Given the description of an element on the screen output the (x, y) to click on. 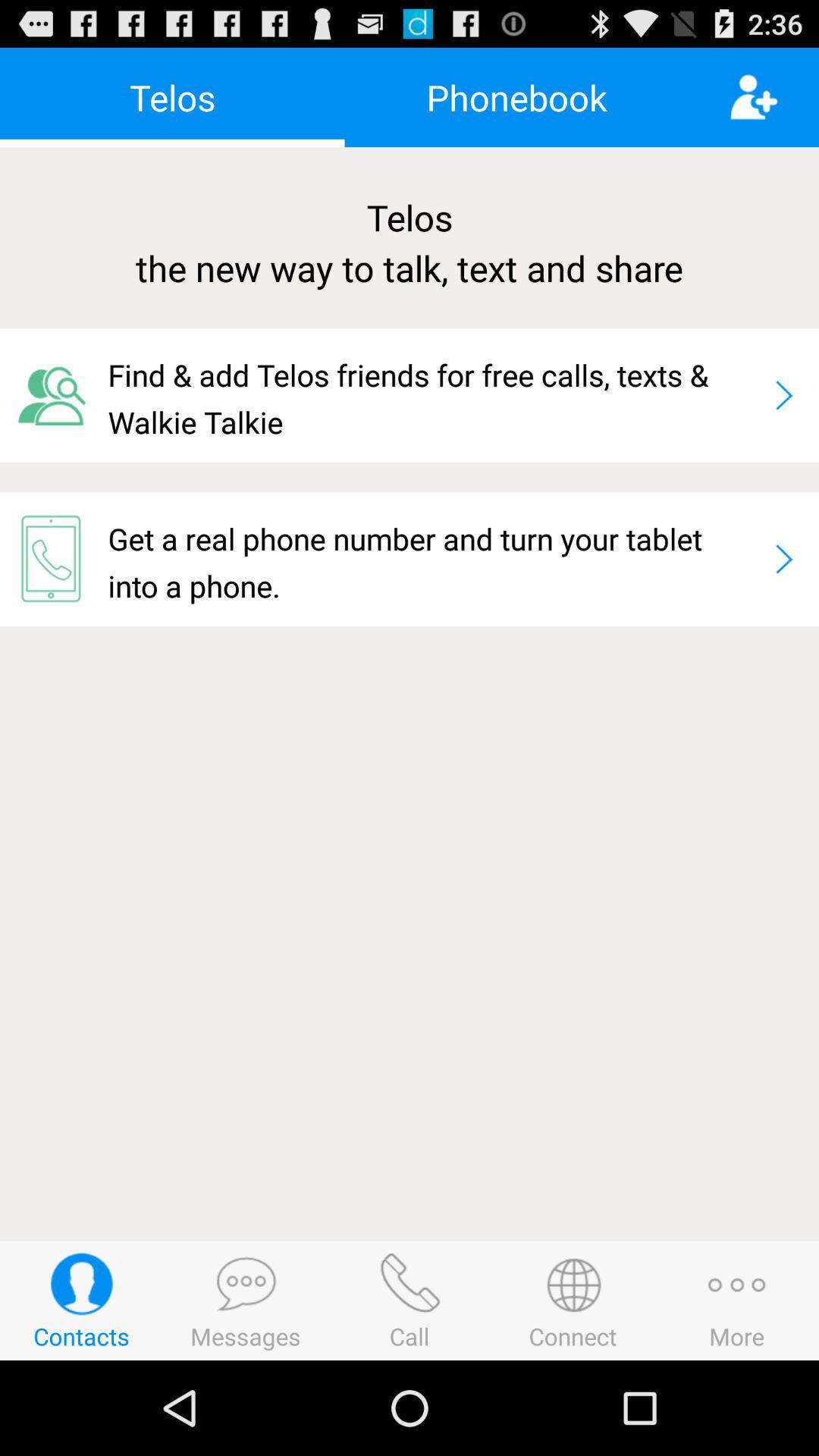
select telos the new icon (409, 242)
